Given the description of an element on the screen output the (x, y) to click on. 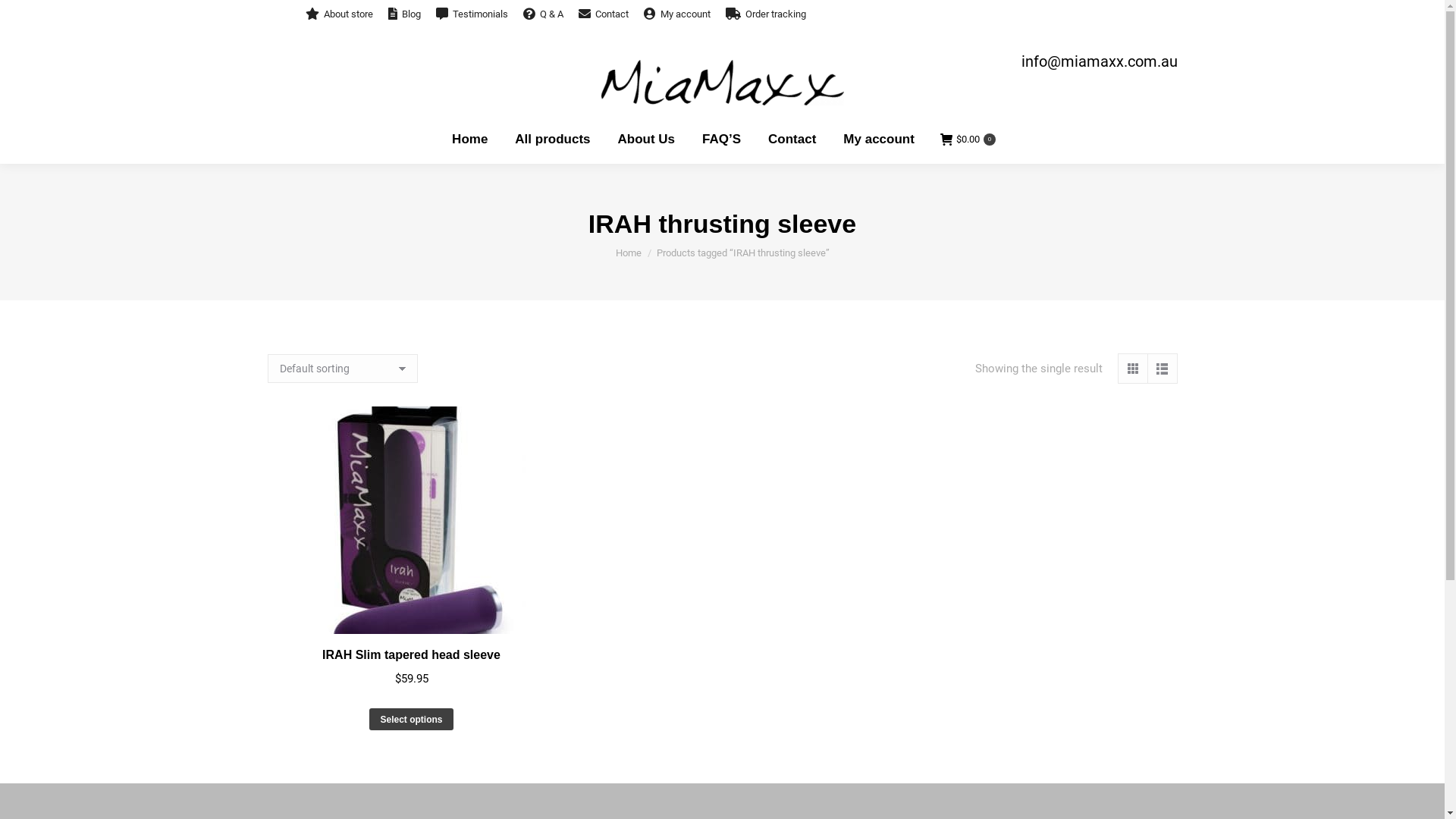
Select options Element type: text (410, 719)
About store Element type: text (338, 13)
About Us Element type: text (646, 139)
Q & A Element type: text (543, 13)
My account Element type: text (676, 13)
My account Element type: text (878, 139)
Testimonials Element type: text (471, 13)
All products Element type: text (552, 139)
$0.00
0 Element type: text (967, 138)
Order tracking Element type: text (764, 13)
Home Element type: text (469, 139)
Home Element type: text (628, 252)
Contact Element type: text (792, 139)
IRAH Slim tapered head sleeve Element type: text (411, 654)
Contact Element type: text (602, 13)
Blog Element type: text (404, 13)
